Given the description of an element on the screen output the (x, y) to click on. 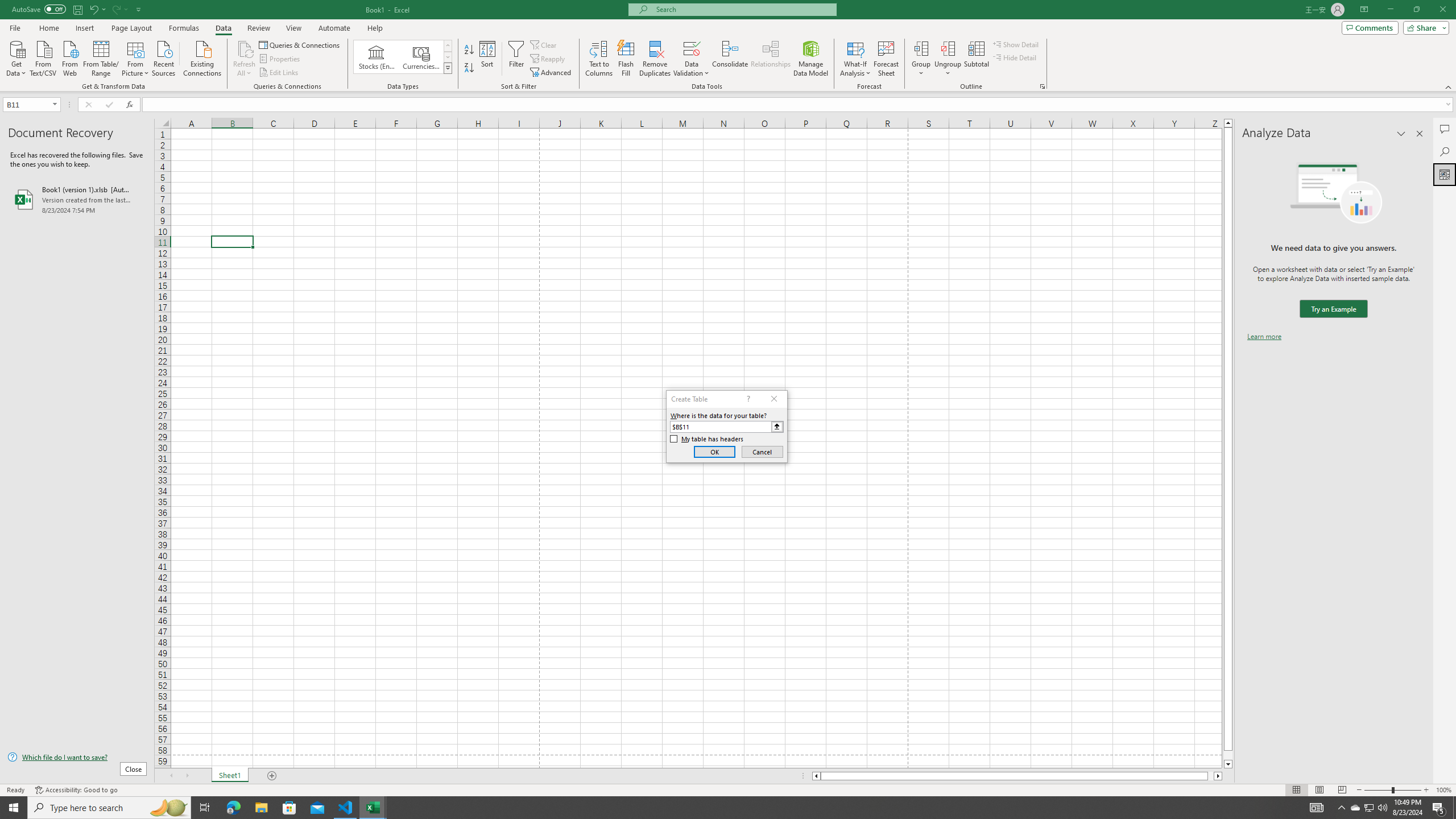
Relationships (770, 58)
